Given the description of an element on the screen output the (x, y) to click on. 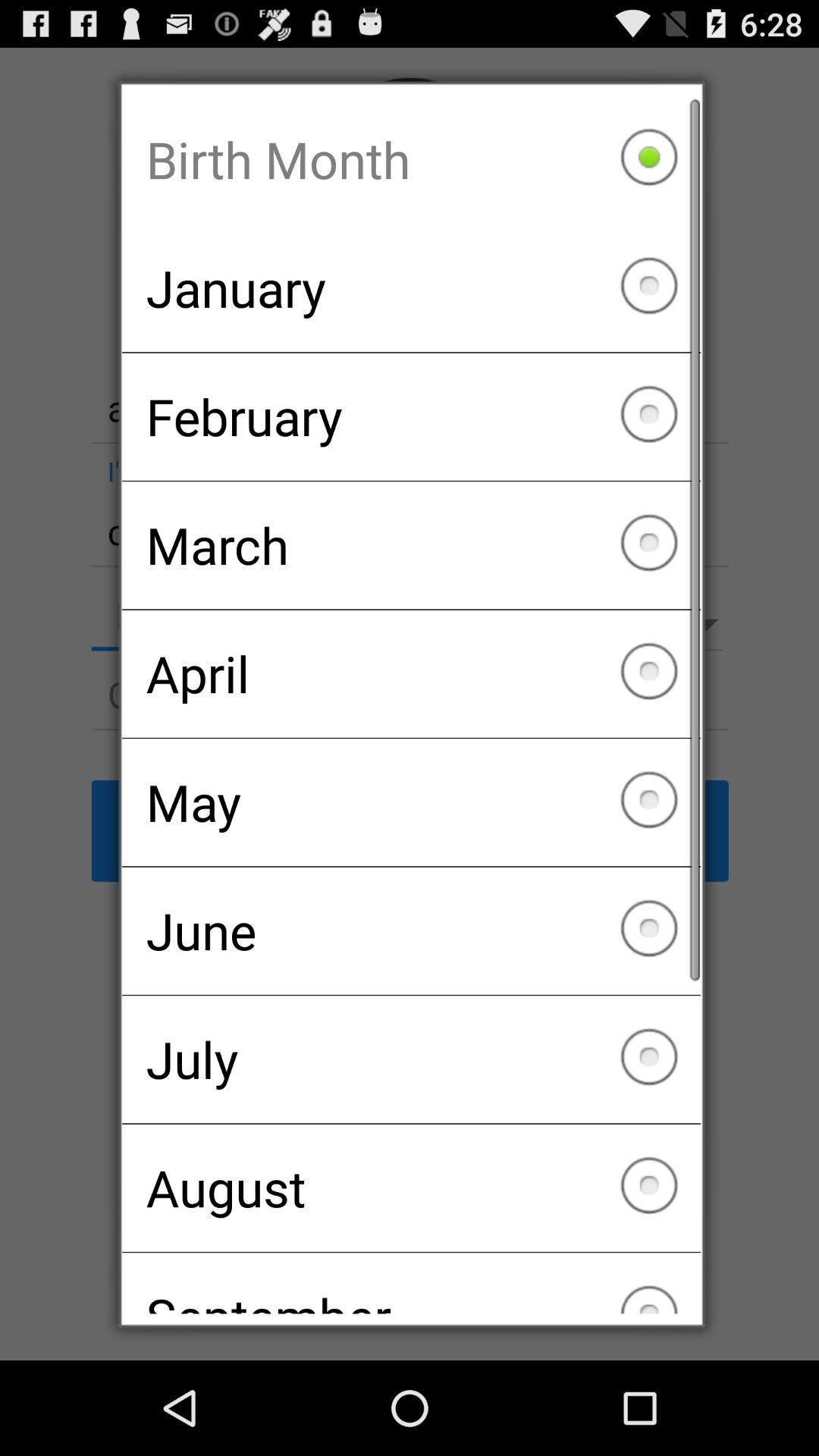
flip until the february checkbox (411, 416)
